Given the description of an element on the screen output the (x, y) to click on. 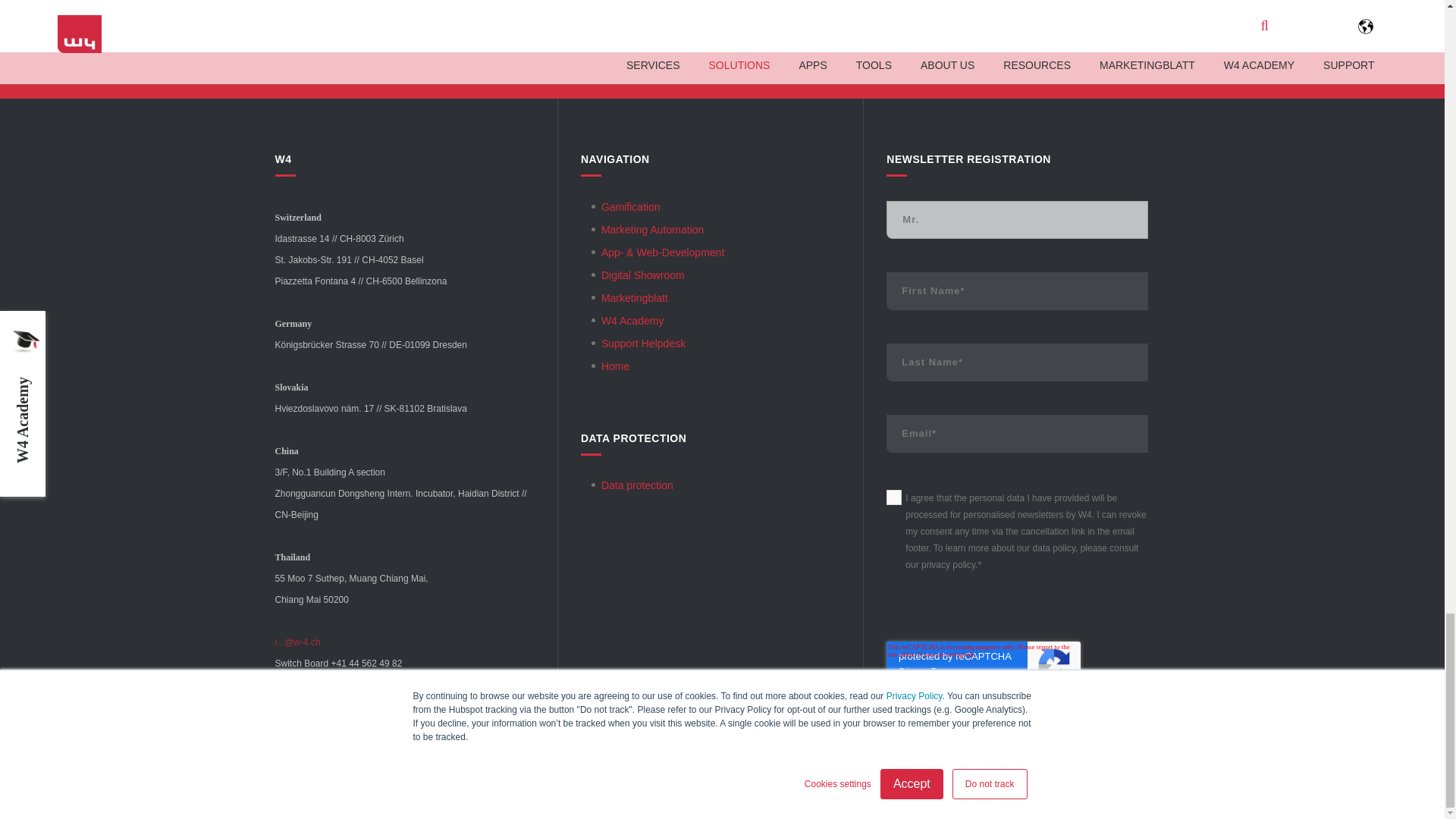
reCAPTCHA (983, 663)
Subscribe (1017, 721)
